Given the description of an element on the screen output the (x, y) to click on. 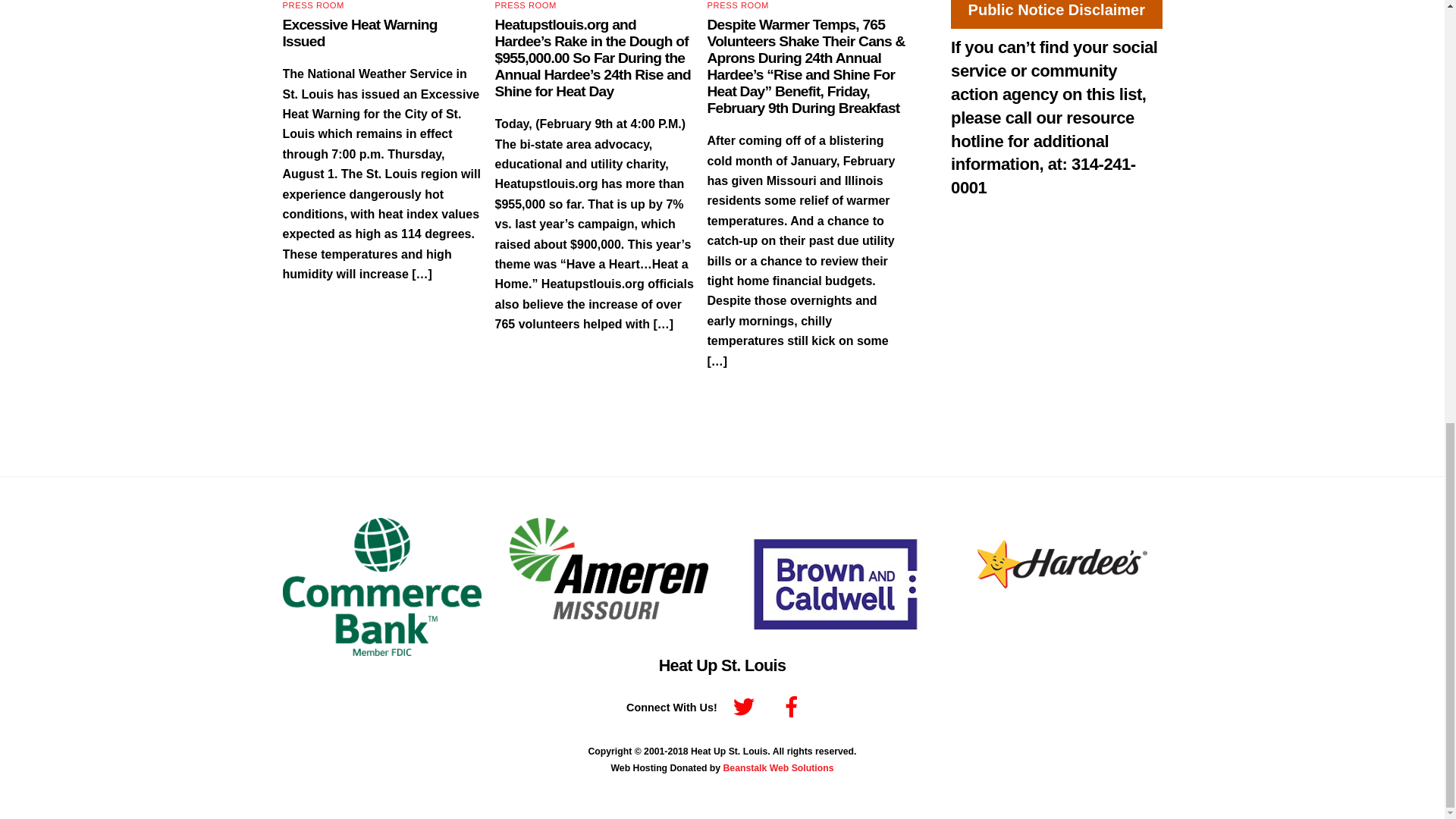
Excessive Heat Warning Issued (359, 32)
PRESS ROOM (737, 4)
PRESS ROOM (312, 4)
Heat Up St. Louis (722, 665)
PRESS ROOM (525, 4)
